Given the description of an element on the screen output the (x, y) to click on. 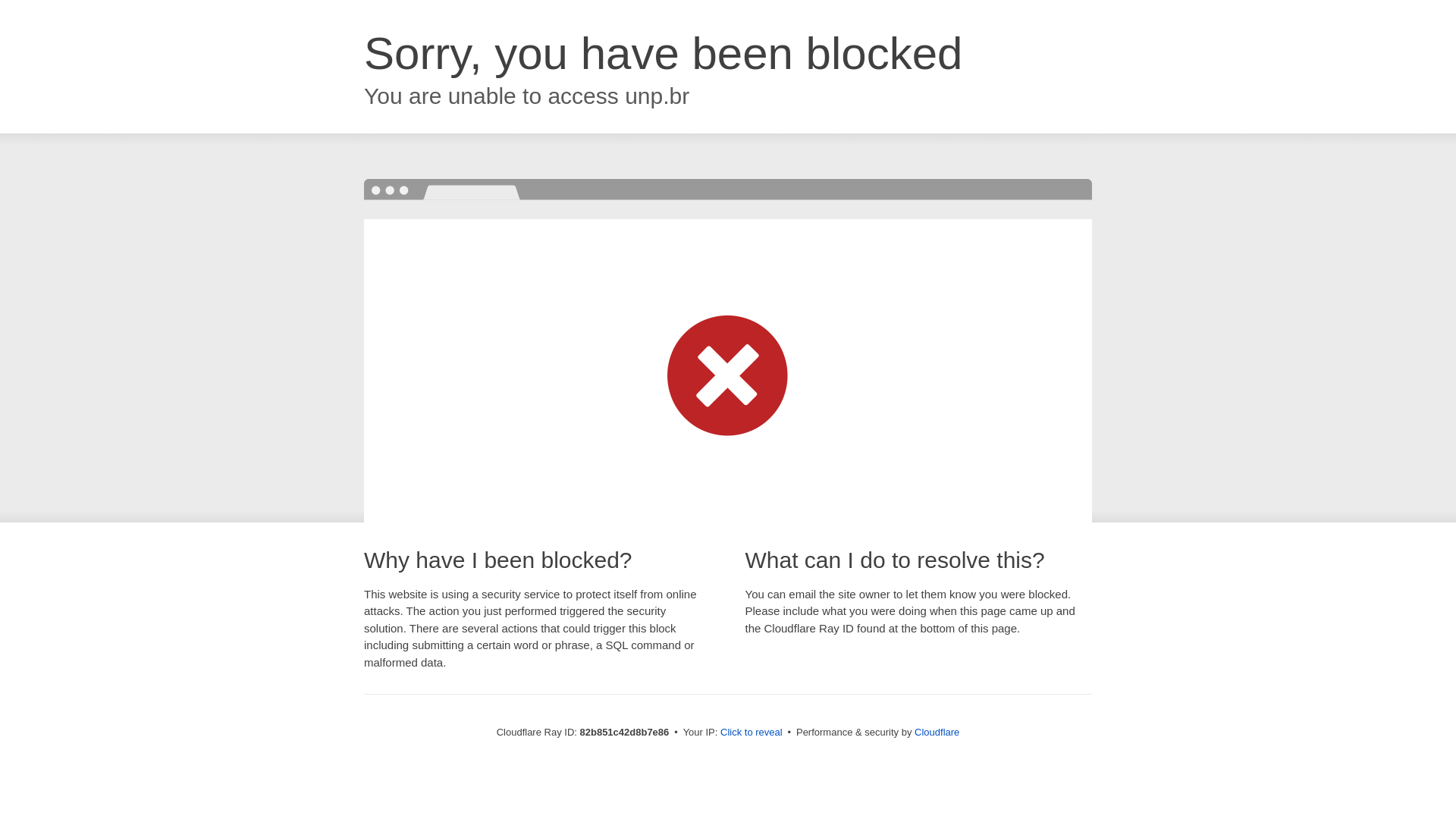
Cloudflare Element type: text (936, 731)
Click to reveal Element type: text (751, 732)
